Given the description of an element on the screen output the (x, y) to click on. 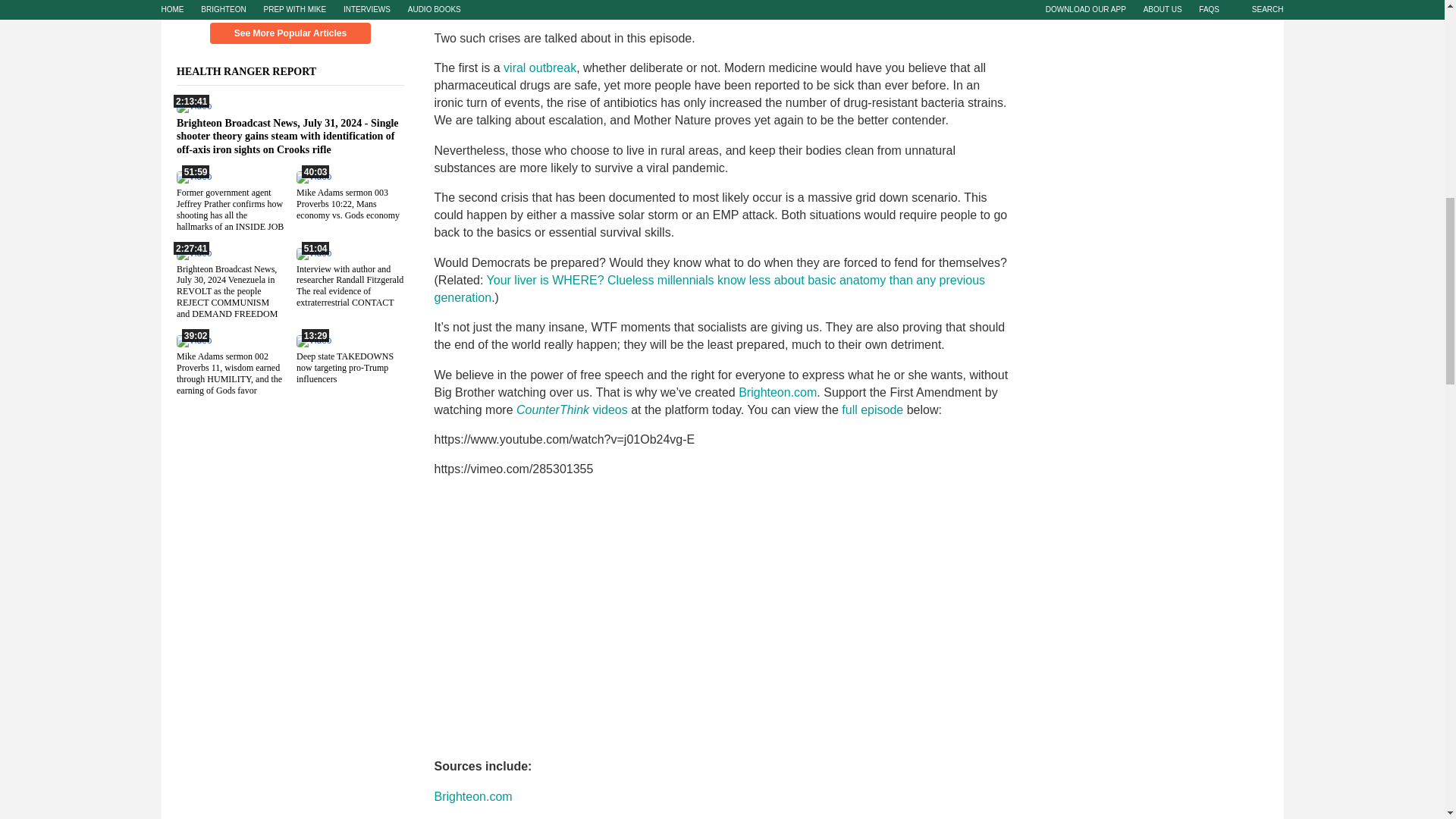
HEALTH RANGER REPORT (254, 71)
51:04 (312, 252)
See More Popular Articles (289, 33)
39:02 (193, 339)
Deep state TAKEDOWNS now targeting pro-Trump influencers (344, 367)
40:03 (312, 176)
Scroll Down (290, 6)
2:27:41 (193, 252)
51:59 (193, 176)
